Given the description of an element on the screen output the (x, y) to click on. 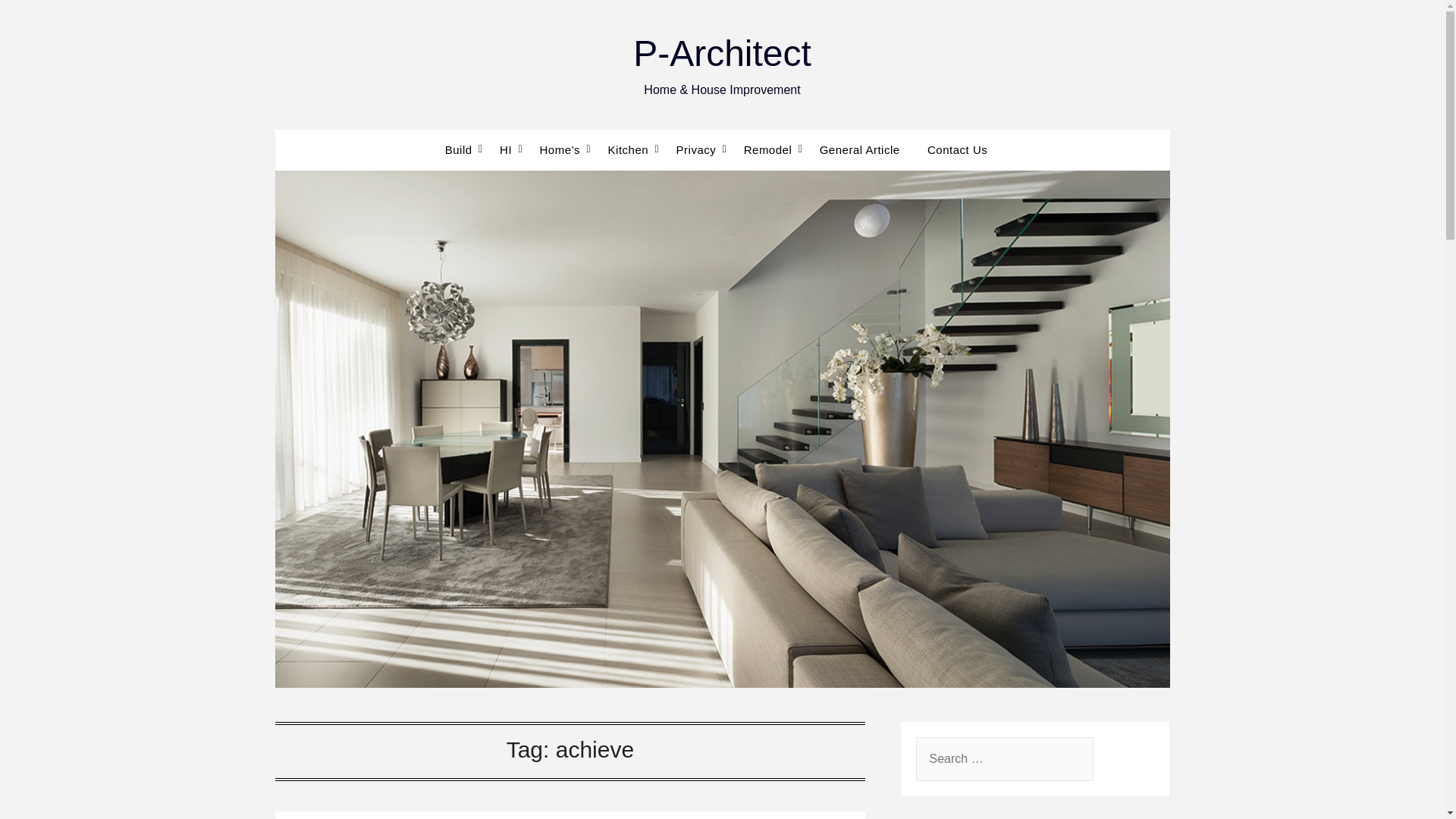
Build (464, 149)
Remodel (768, 149)
Contact Us (956, 149)
Privacy (696, 149)
General Article (860, 149)
HI (505, 149)
Kitchen (628, 149)
P-Architect (721, 53)
